Given the description of an element on the screen output the (x, y) to click on. 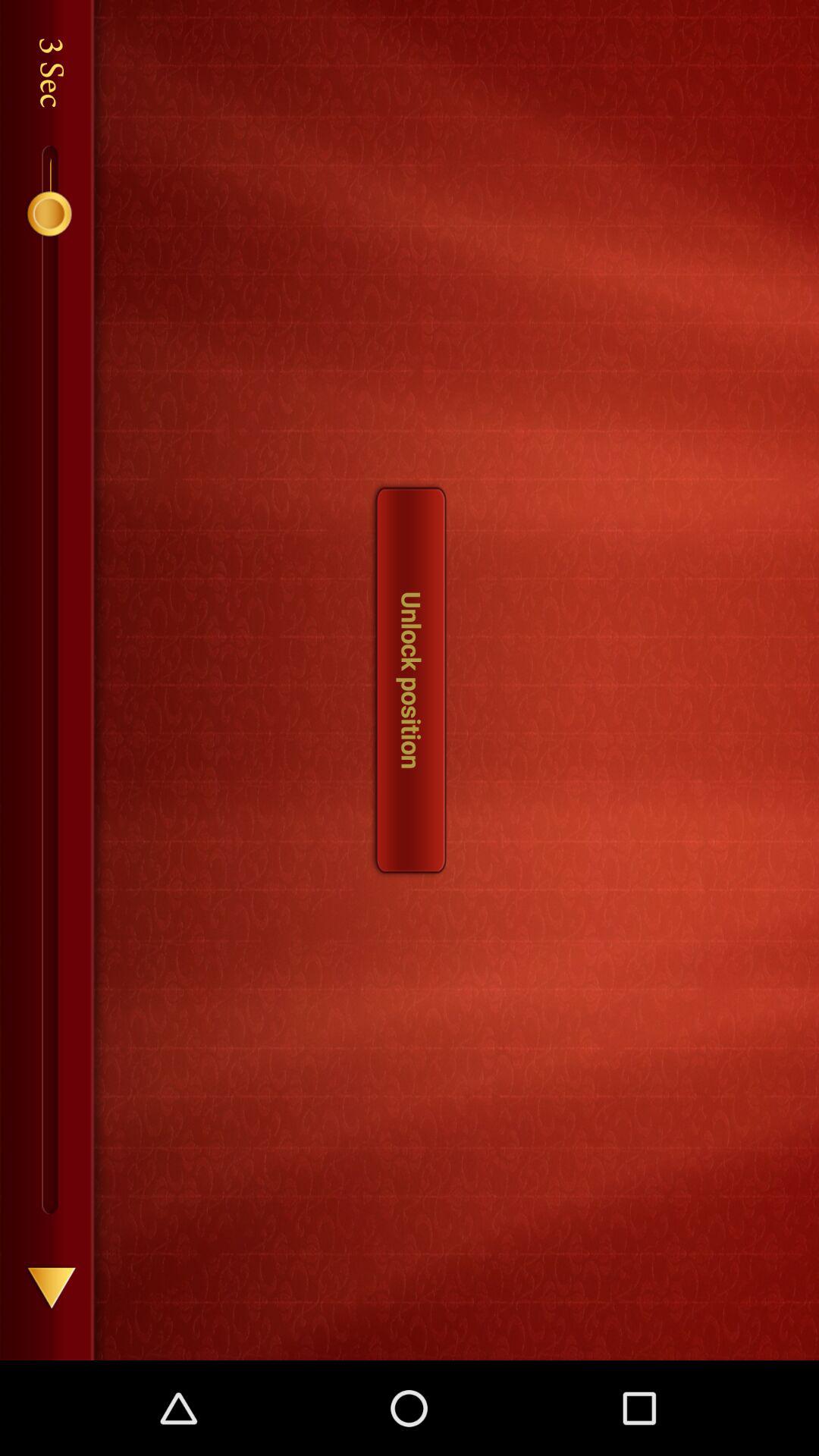
select the text sec which is right side of number 3 (57, 95)
